Given the description of an element on the screen output the (x, y) to click on. 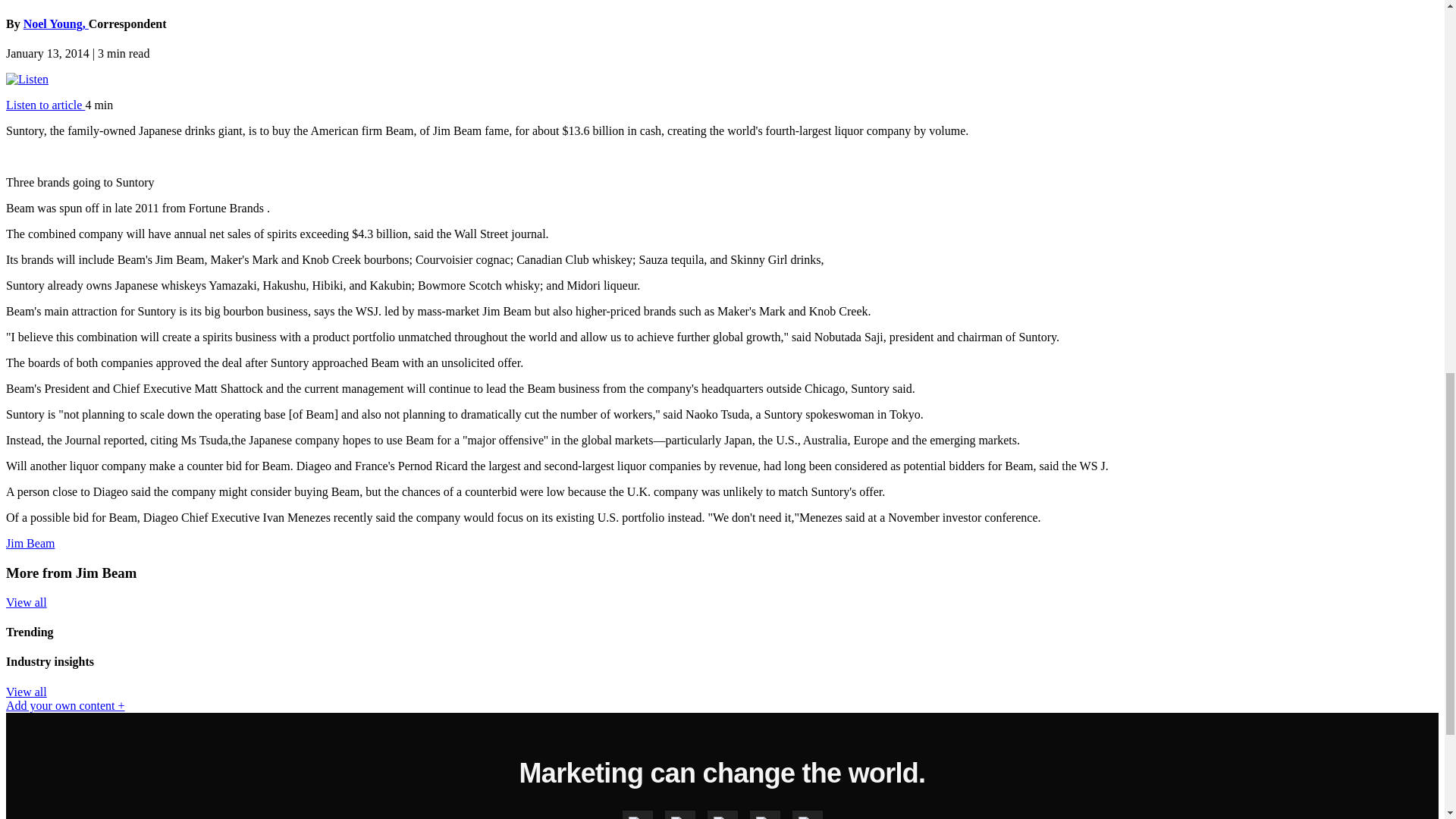
Jim Beam (30, 543)
View all (25, 691)
Noel Young, (55, 23)
View all (25, 602)
Listen to article (44, 104)
